Given the description of an element on the screen output the (x, y) to click on. 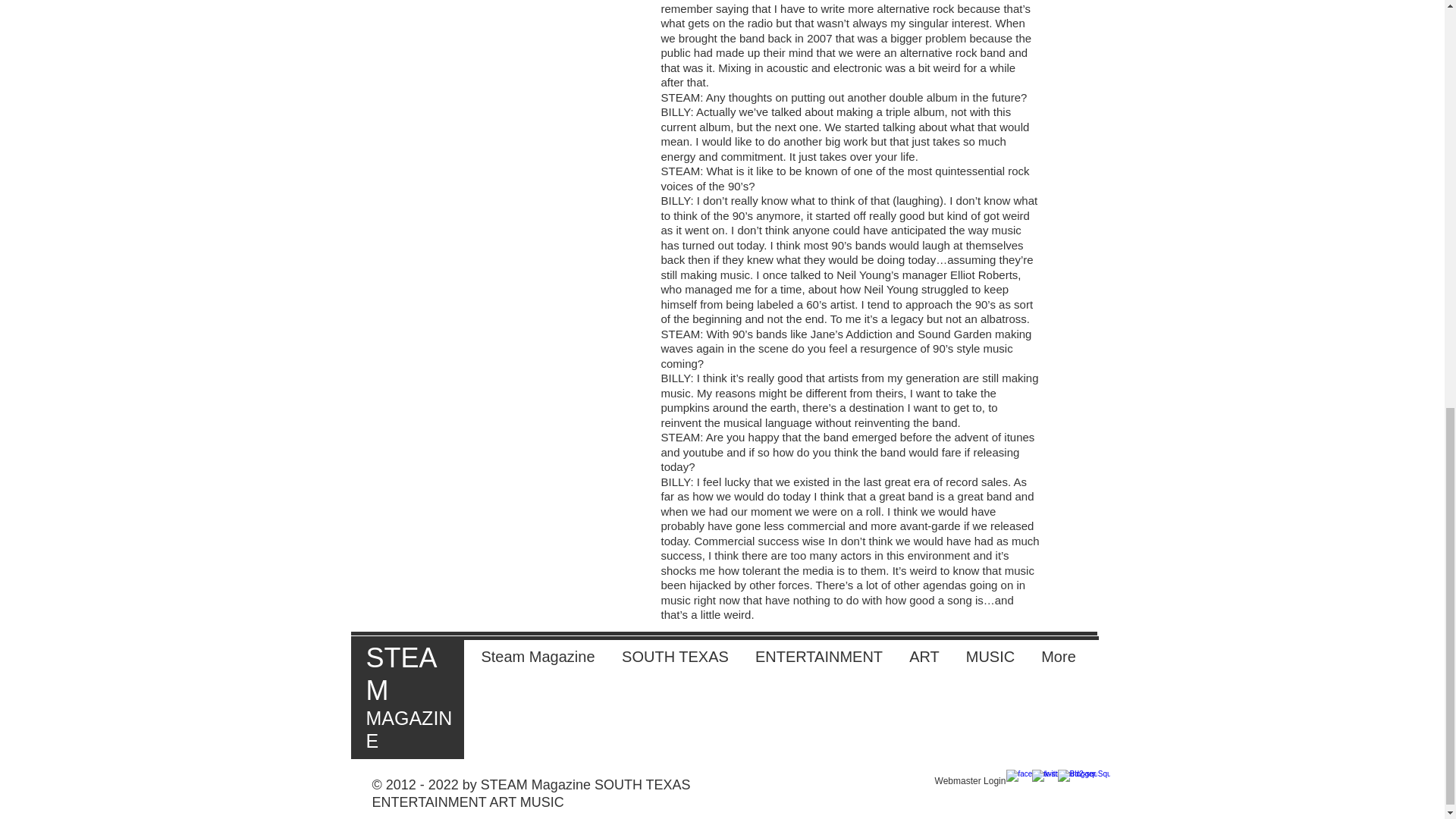
Steam Magazine (537, 656)
ART (924, 656)
Webmaster Login (970, 781)
ENTERTAINMENT (818, 656)
MUSIC (989, 656)
SOUTH TEXAS (674, 656)
